Given the description of an element on the screen output the (x, y) to click on. 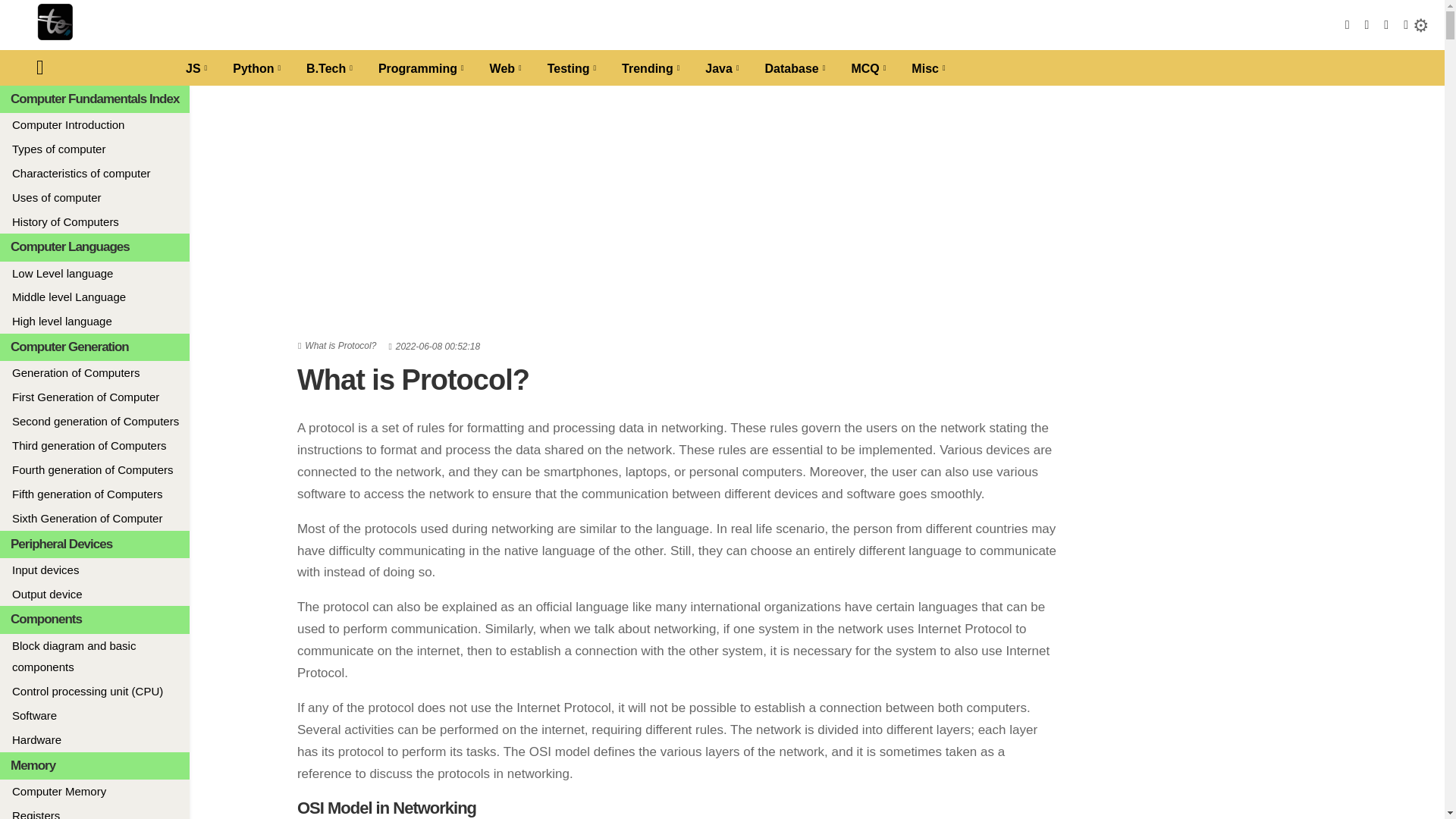
Python (256, 67)
Advertisement (1222, 715)
JS (196, 67)
B.Tech (329, 67)
Advertisement (1222, 206)
Advertisement (1222, 463)
